Given the description of an element on the screen output the (x, y) to click on. 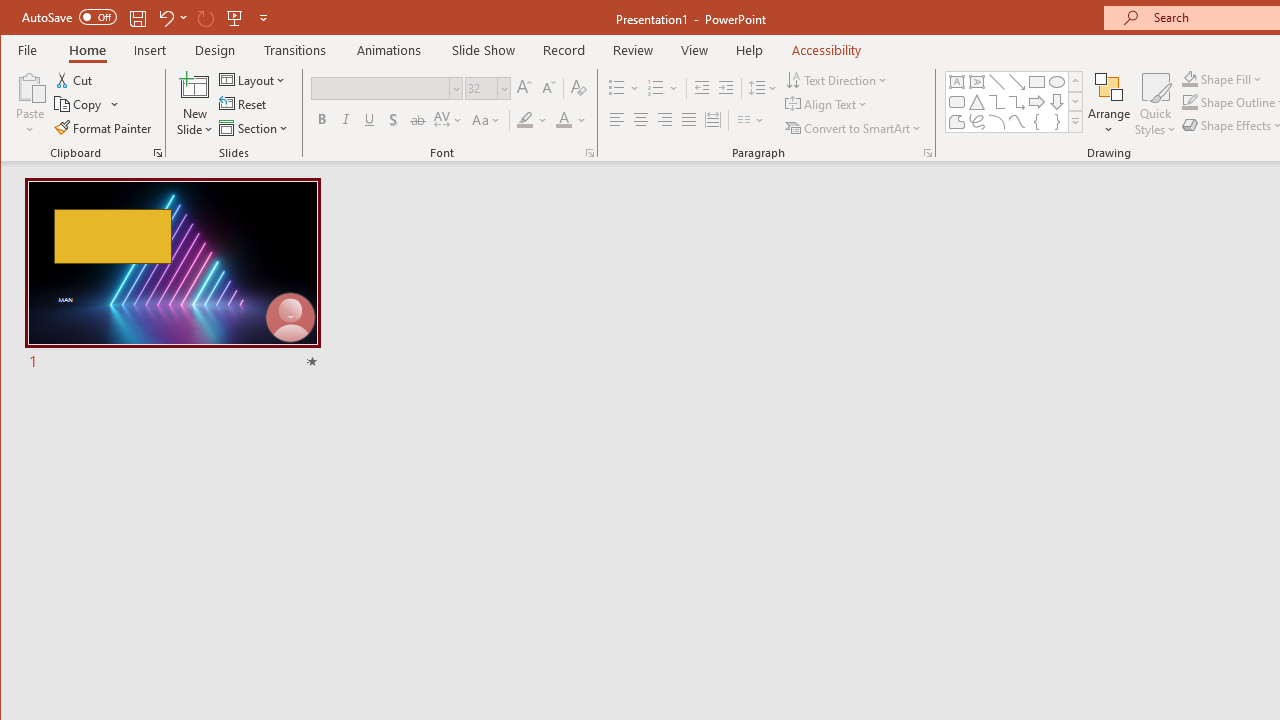
Italic (346, 119)
Quick Styles (1155, 104)
Shape Fill Orange, Accent 2 (1189, 78)
Arrow: Right (1036, 102)
Cut (74, 80)
Arc (996, 121)
Arrow: Down (1057, 102)
Open (502, 88)
